Given the description of an element on the screen output the (x, y) to click on. 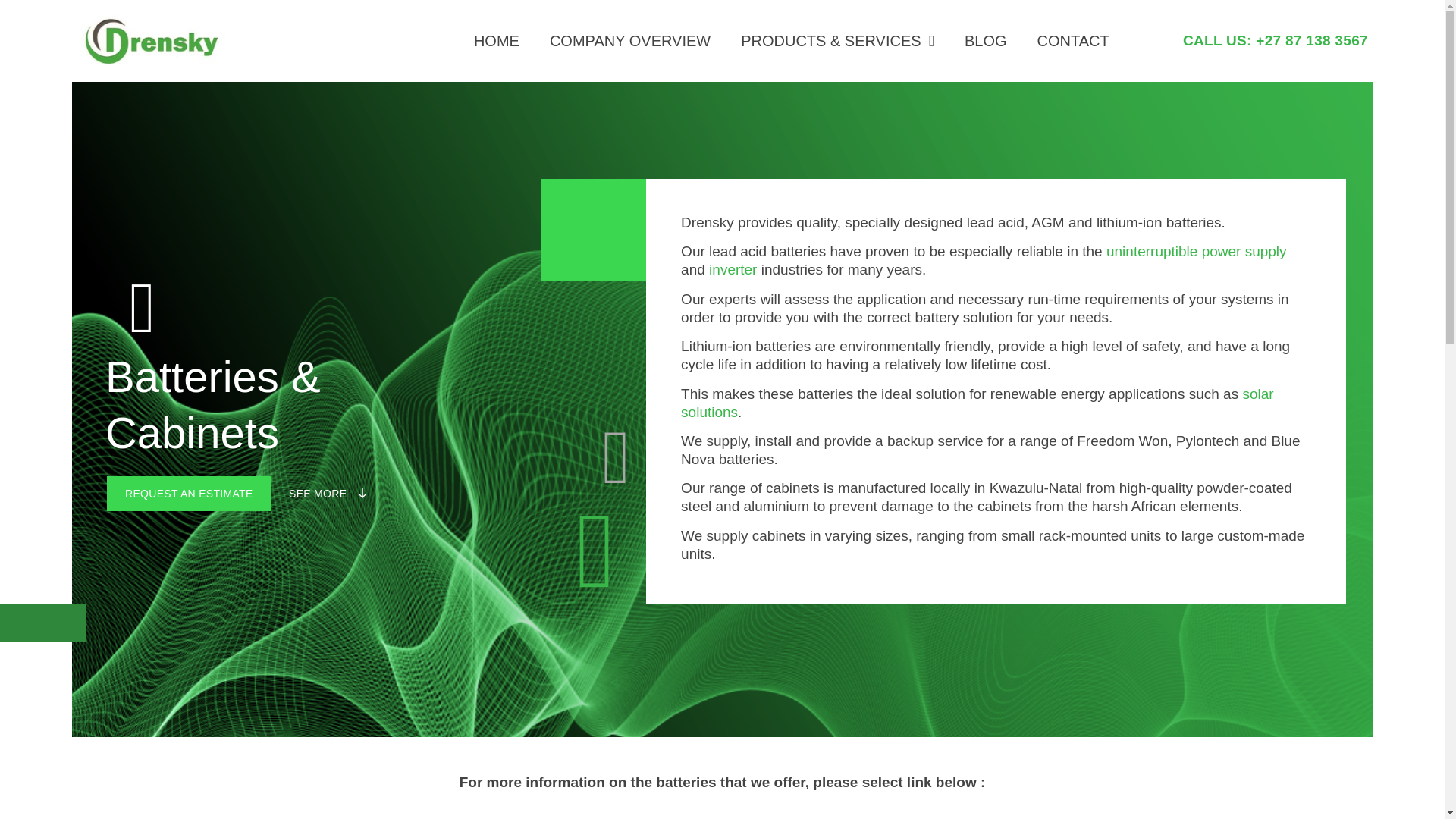
COMPANY OVERVIEW (629, 40)
CONTACT (1073, 40)
BLOG (985, 40)
HOME (496, 40)
